Given the description of an element on the screen output the (x, y) to click on. 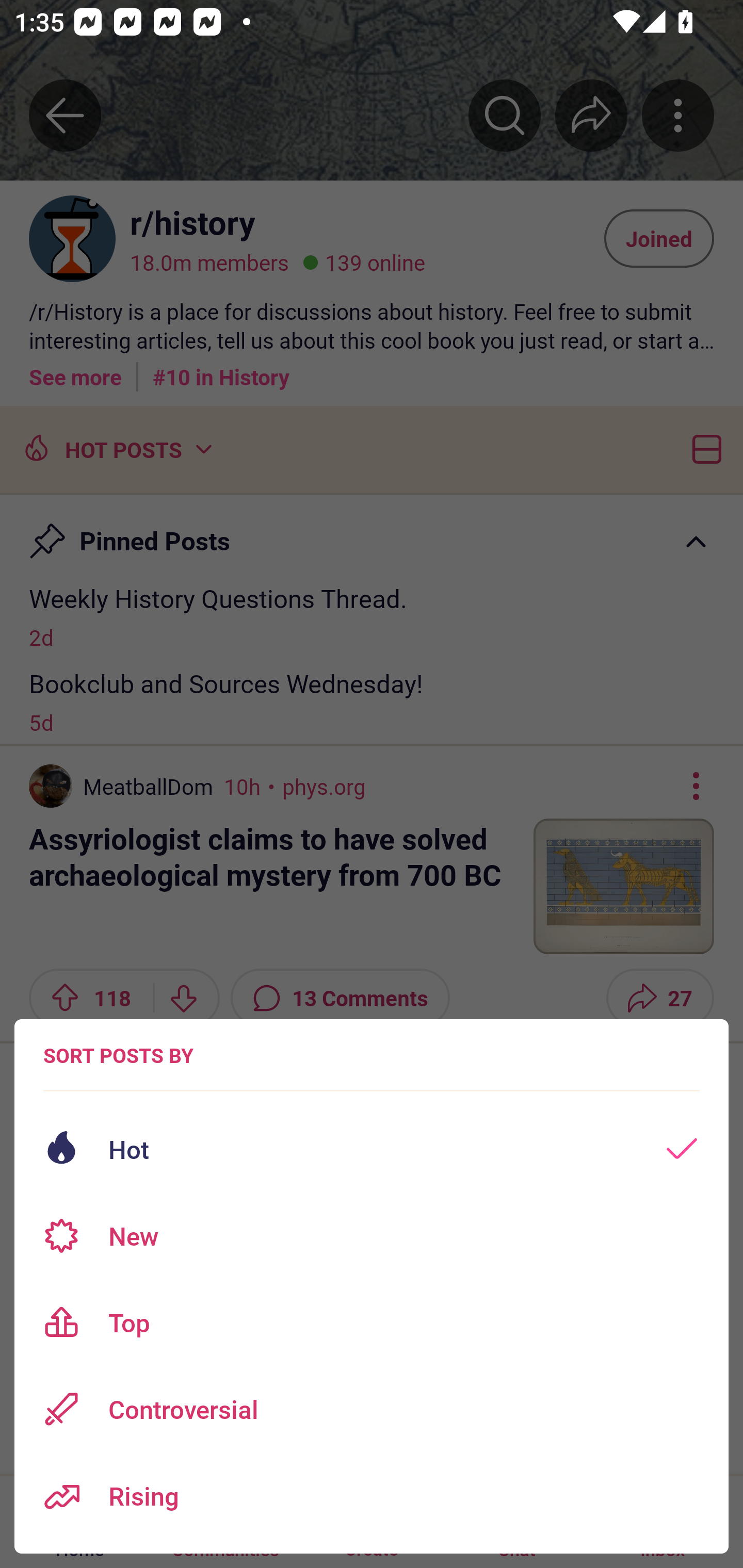
SORT POSTS BY Sort posts options (118, 1055)
Hot (371, 1149)
New (371, 1236)
Top (371, 1322)
Controversial (371, 1408)
Rising (371, 1495)
